Given the description of an element on the screen output the (x, y) to click on. 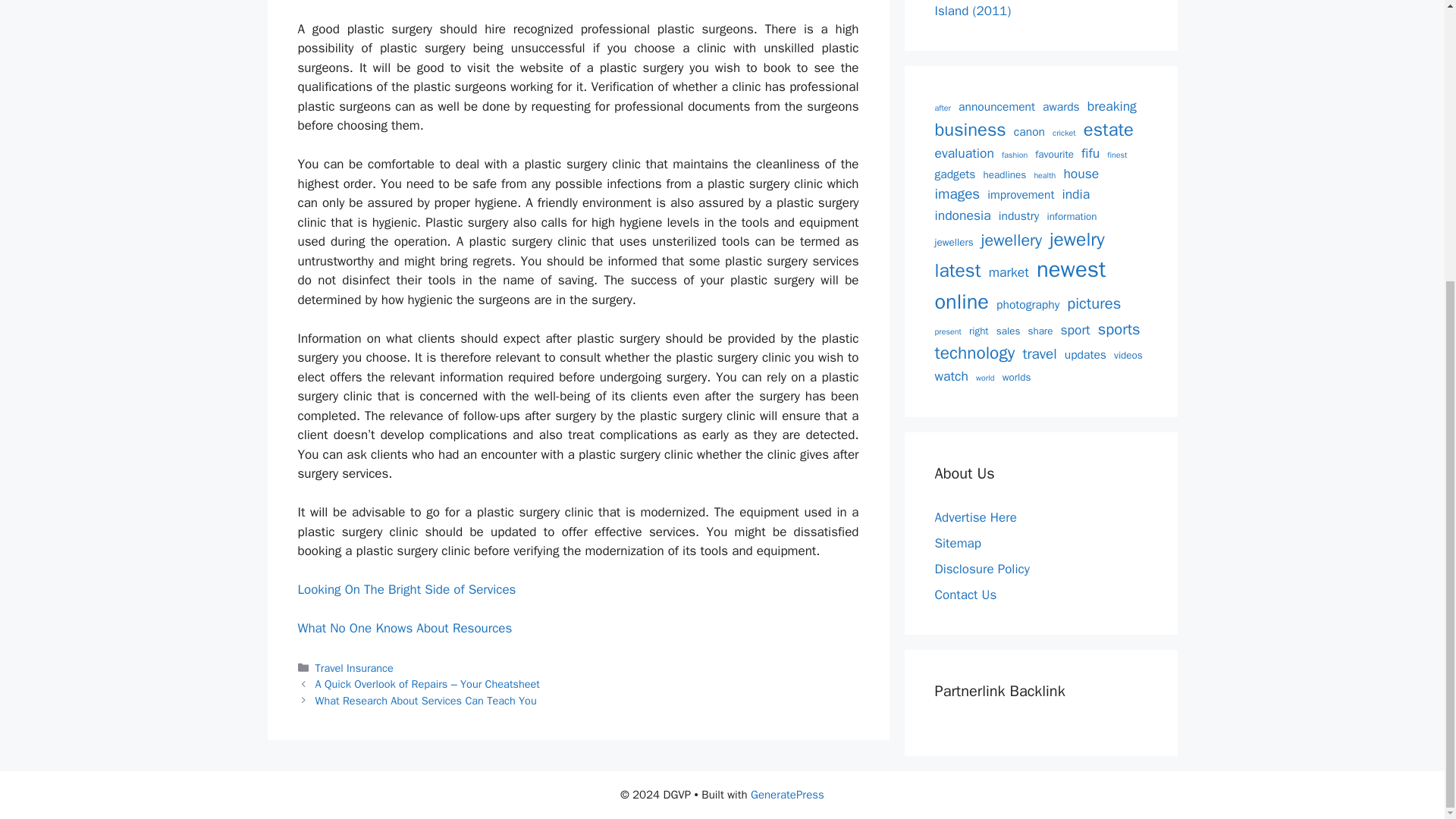
after (942, 108)
awards (1061, 107)
gadgets (954, 174)
fifu (1090, 152)
business (970, 129)
health (1044, 175)
house (1080, 173)
What No One Knows About Resources (404, 627)
estate (1108, 129)
Travel Insurance (354, 667)
evaluation (963, 152)
breaking (1112, 106)
finest (1116, 155)
images (956, 193)
Looking On The Bright Side of Services (406, 589)
